Given the description of an element on the screen output the (x, y) to click on. 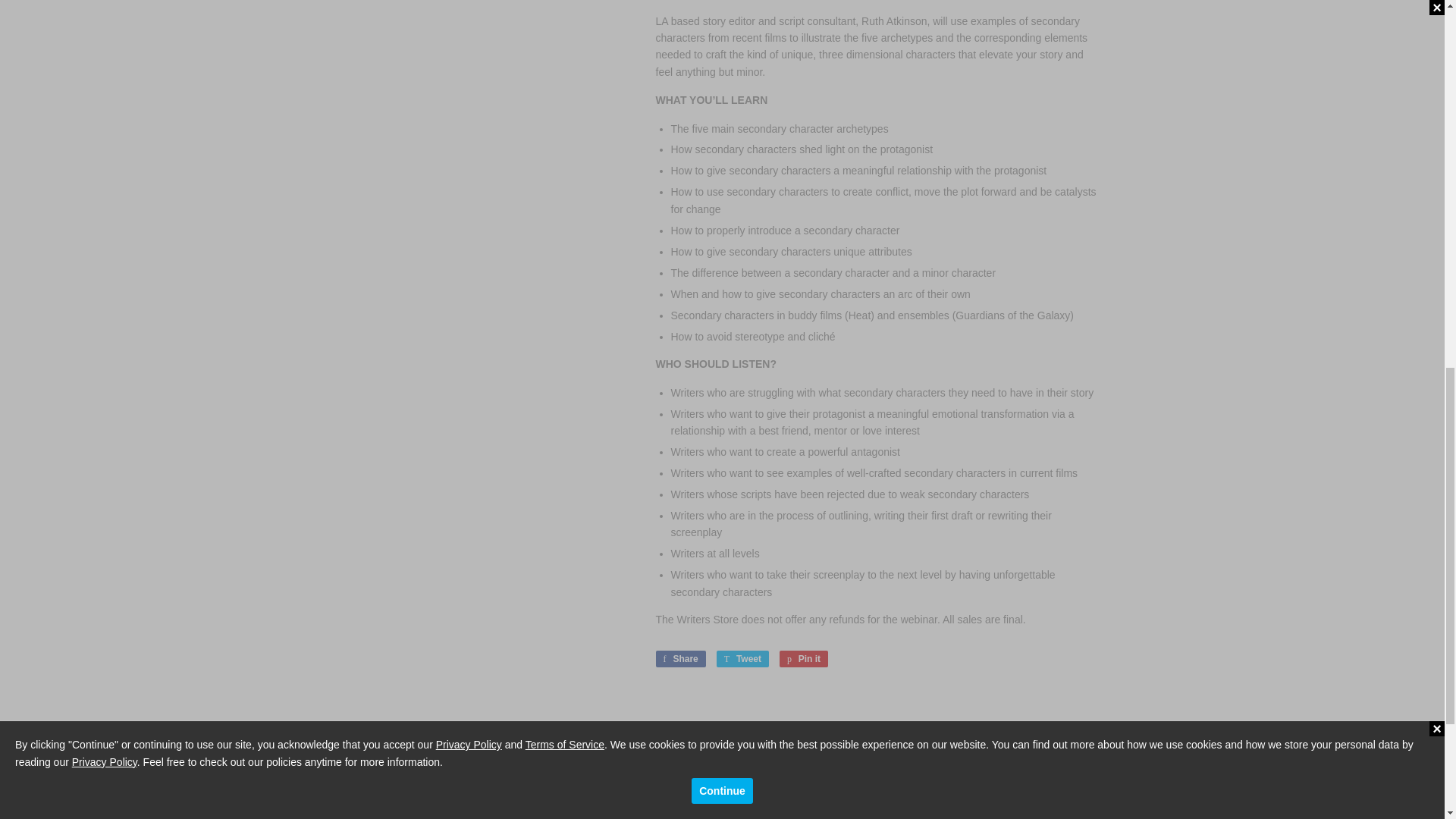
Subscription Questions (658, 816)
Order Questions (742, 658)
Contact Us (642, 802)
Search (642, 802)
Pin on Pinterest (358, 802)
Share on Facebook (803, 658)
Tweet on Twitter (803, 658)
Contact Us (679, 658)
